Given the description of an element on the screen output the (x, y) to click on. 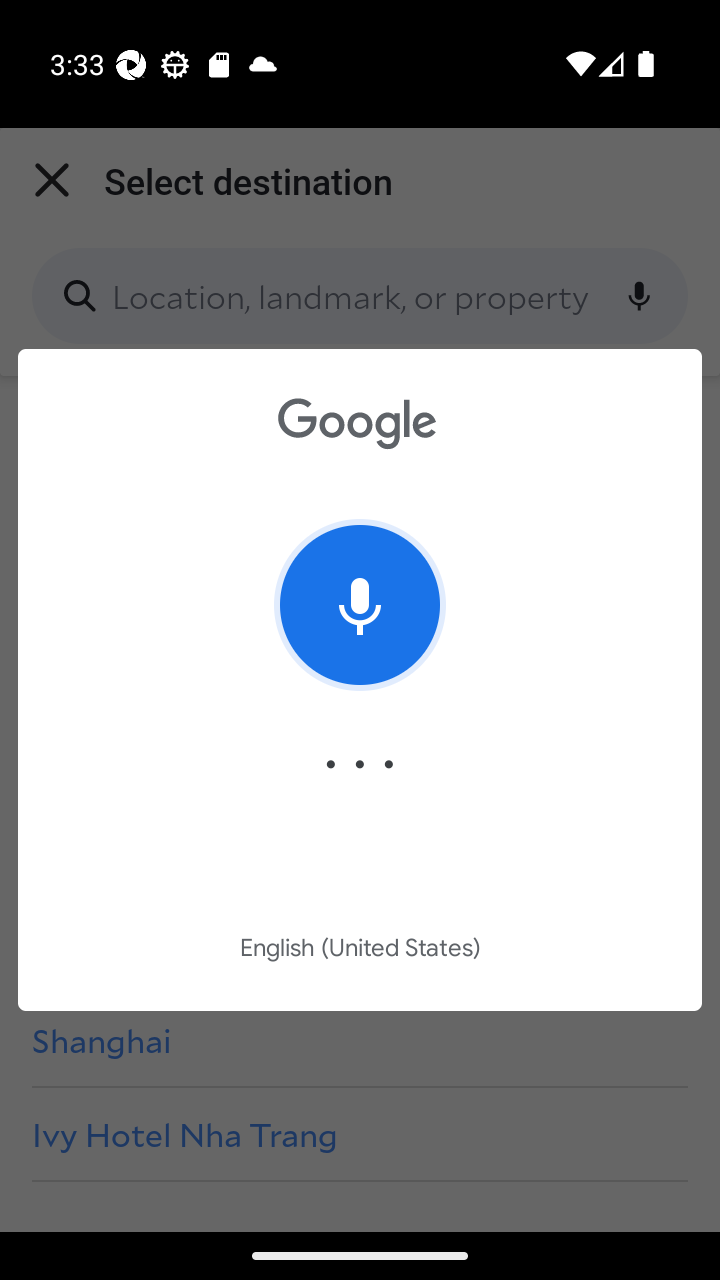
Tap to stop listening (359, 604)
